Given the description of an element on the screen output the (x, y) to click on. 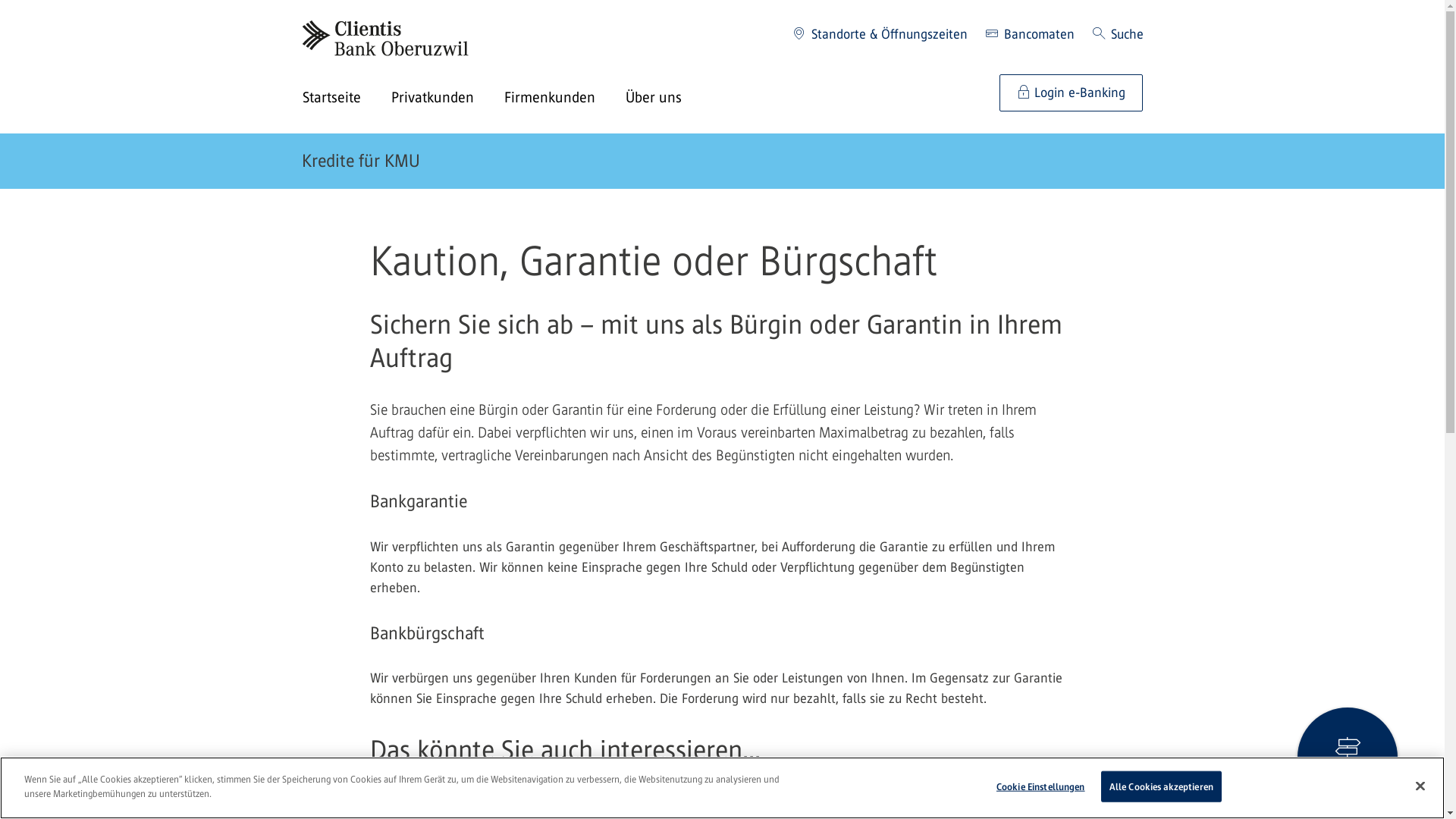
Login e-Banking Element type: text (1070, 92)
Alle Cookies akzeptieren Element type: text (1161, 787)
Bancomaten Element type: text (1029, 34)
Suche Element type: text (1117, 34)
Privatkunden Element type: text (447, 98)
Firmenkunden Element type: text (563, 98)
Cookie Einstellungen Element type: text (1040, 786)
Kontakt Element type: text (1347, 757)
Startseite Element type: text (345, 98)
